Given the description of an element on the screen output the (x, y) to click on. 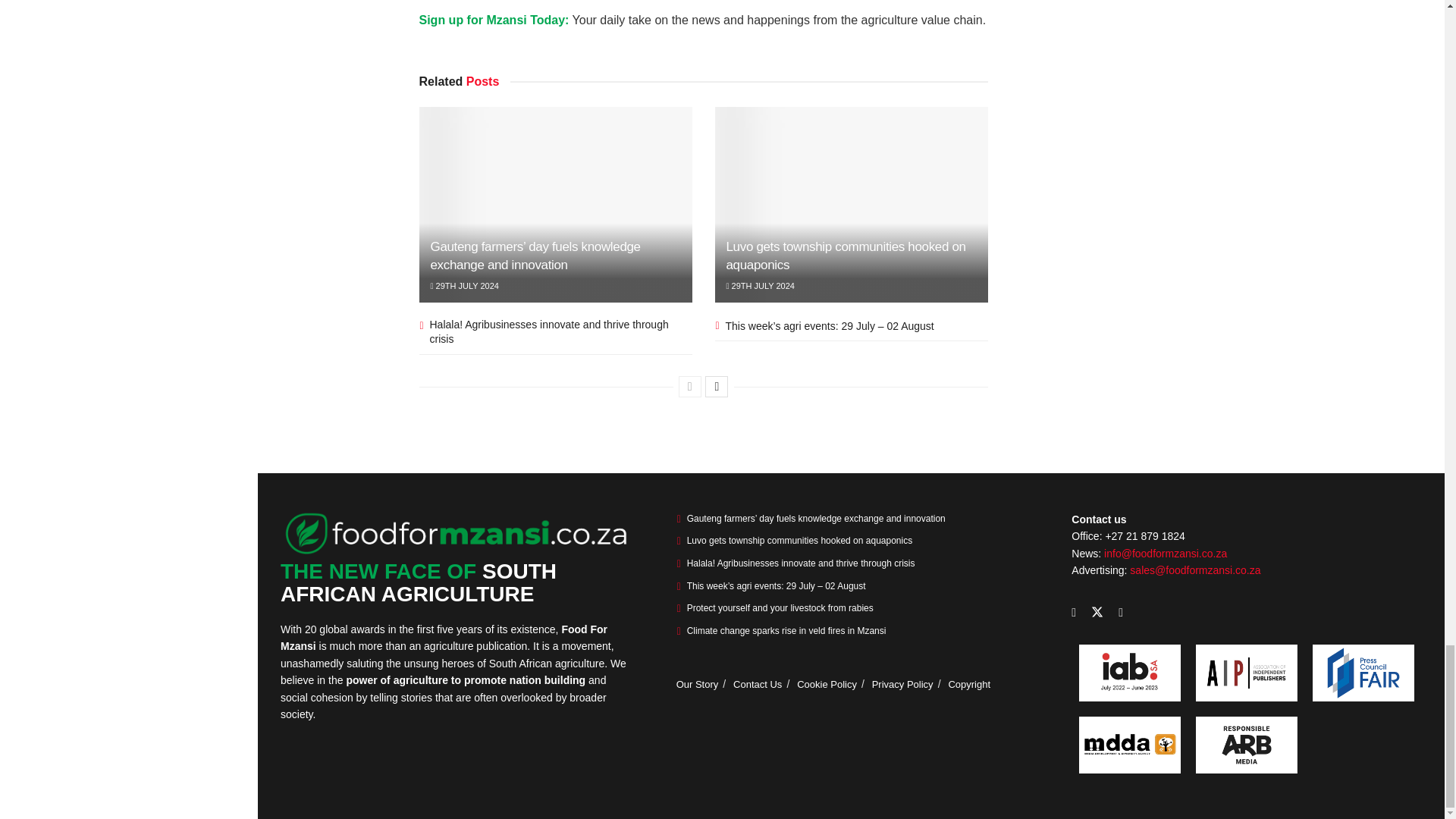
Previous (689, 386)
Next (716, 386)
